Given the description of an element on the screen output the (x, y) to click on. 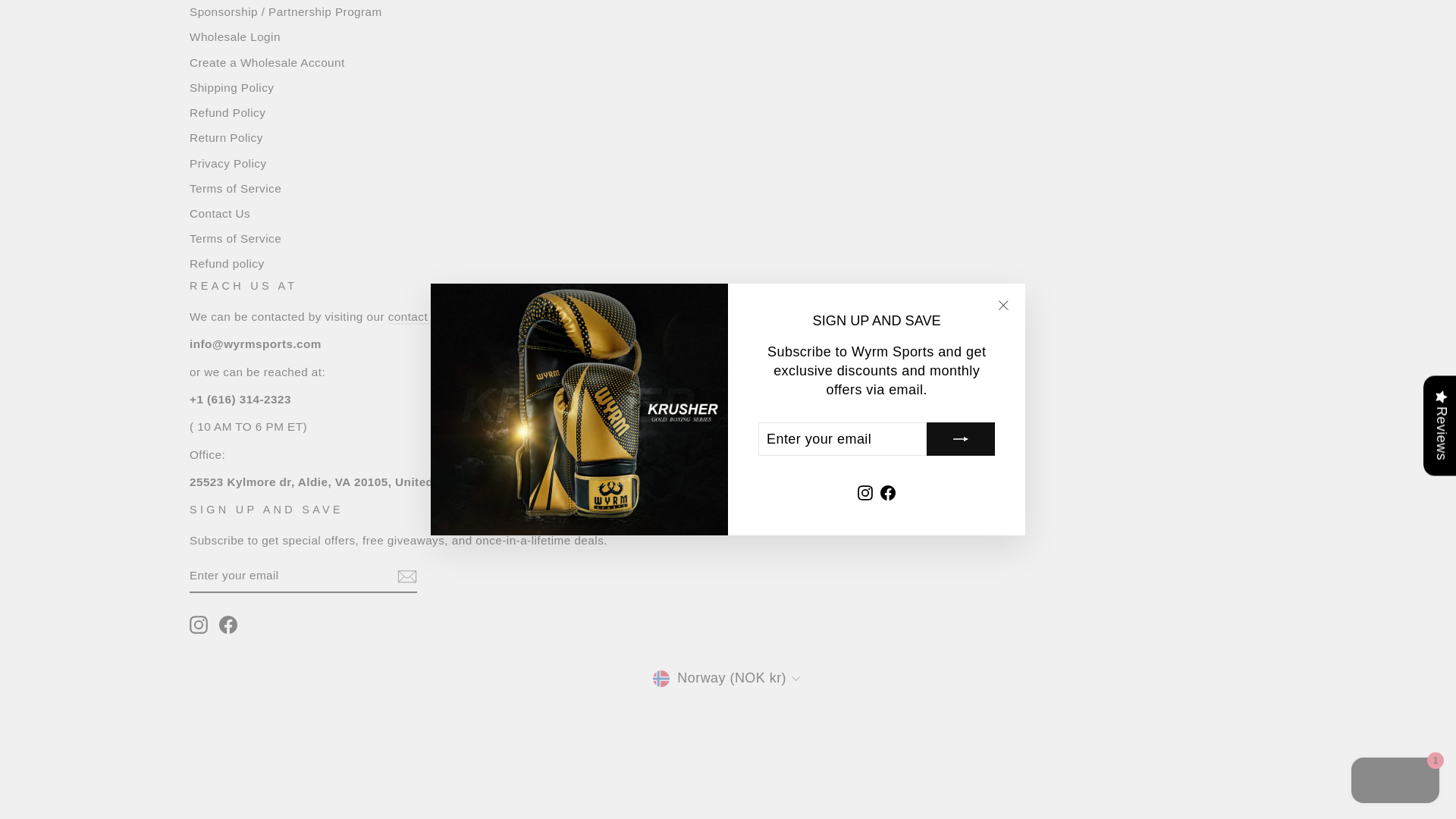
Google Pay (727, 728)
Discover (657, 728)
Shop Pay (832, 728)
PayPal (797, 728)
Diners Club (622, 728)
Mastercard (762, 728)
American Express (552, 728)
Apple Pay (587, 728)
Meta Pay (692, 728)
